Given the description of an element on the screen output the (x, y) to click on. 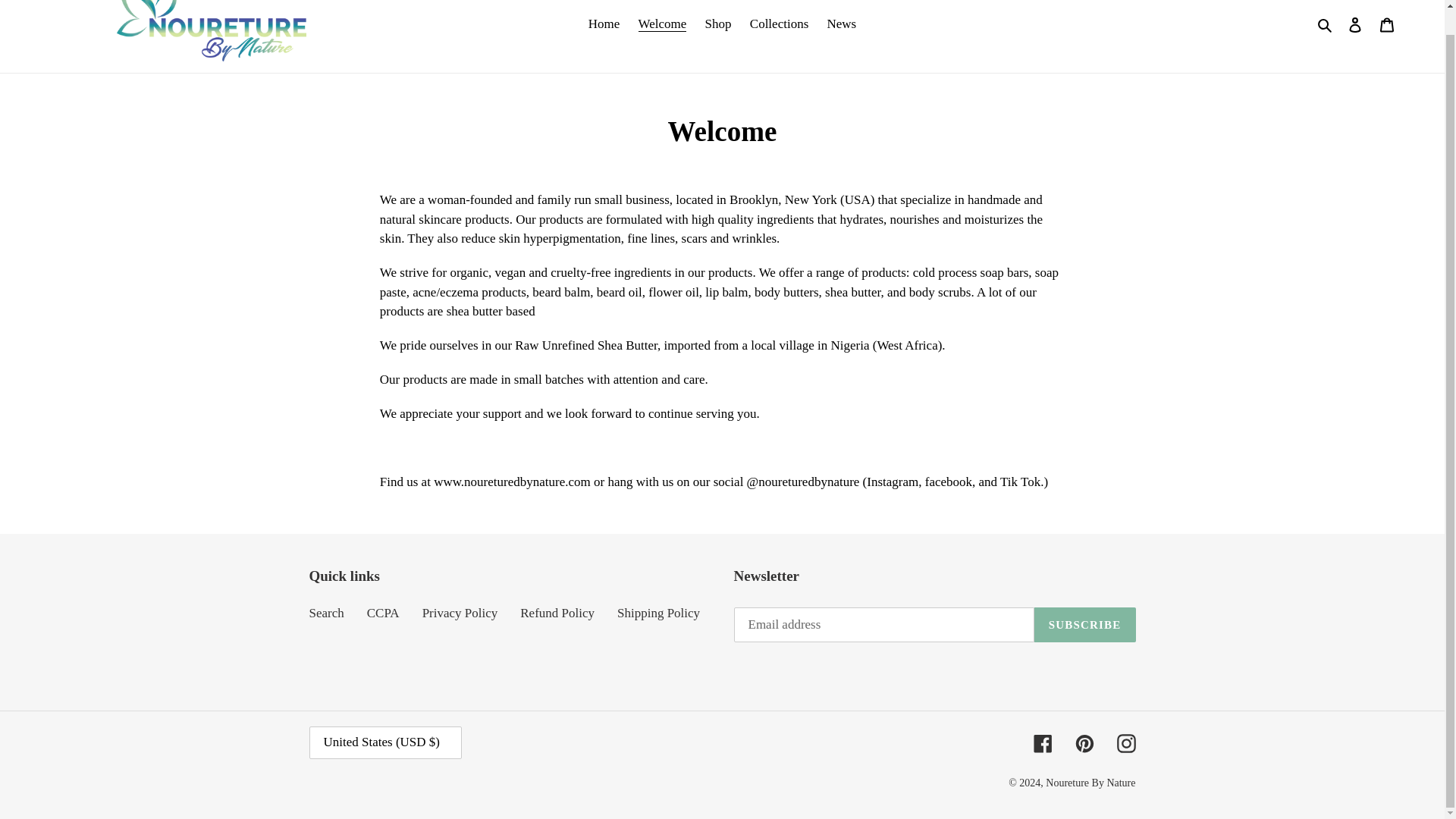
CCPA (382, 612)
Privacy Policy (459, 612)
Cart (1387, 23)
Home (603, 24)
Search (325, 612)
Search (1326, 24)
Refund Policy (556, 612)
News (841, 24)
Collections (778, 24)
Welcome (662, 24)
SUBSCRIBE (1084, 624)
Log in (1355, 23)
Shop (718, 24)
Shipping Policy (658, 612)
